Given the description of an element on the screen output the (x, y) to click on. 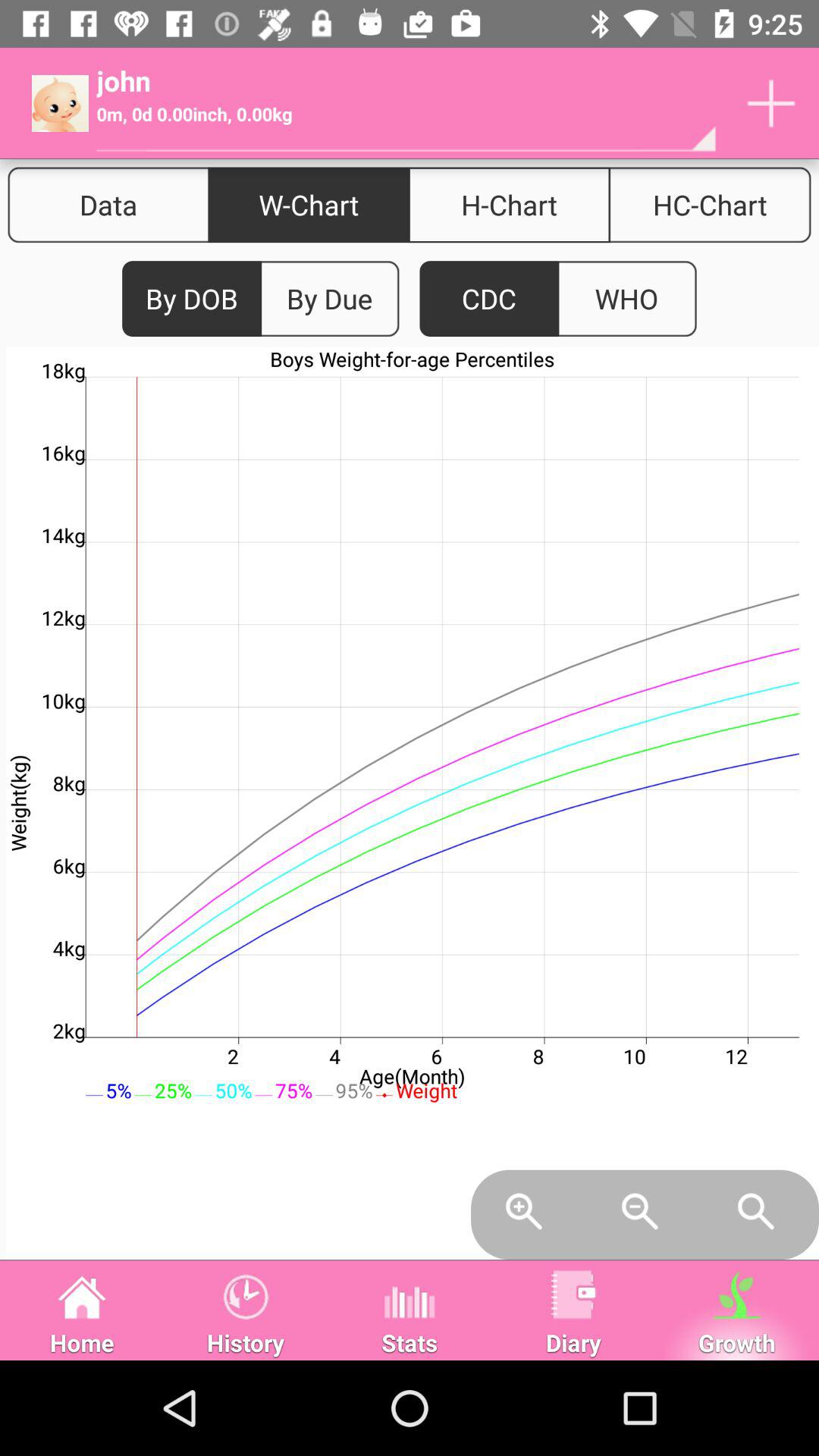
launch icon to the right of 0m 0d 0 icon (771, 103)
